Given the description of an element on the screen output the (x, y) to click on. 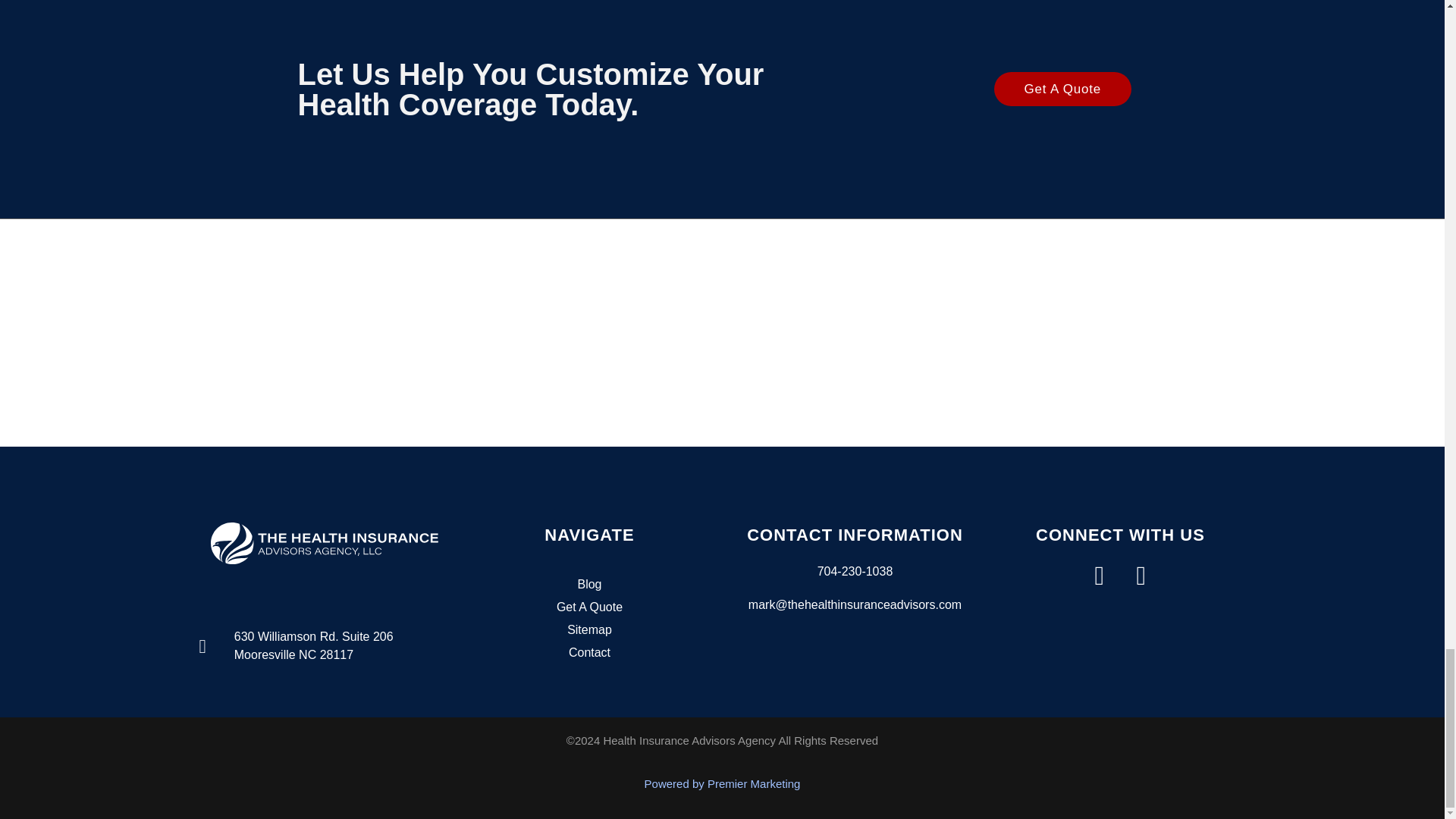
Sitemap (589, 630)
Get A Quote (1062, 89)
Contact (589, 652)
Get A Quote (589, 607)
Blog (589, 584)
